Given the description of an element on the screen output the (x, y) to click on. 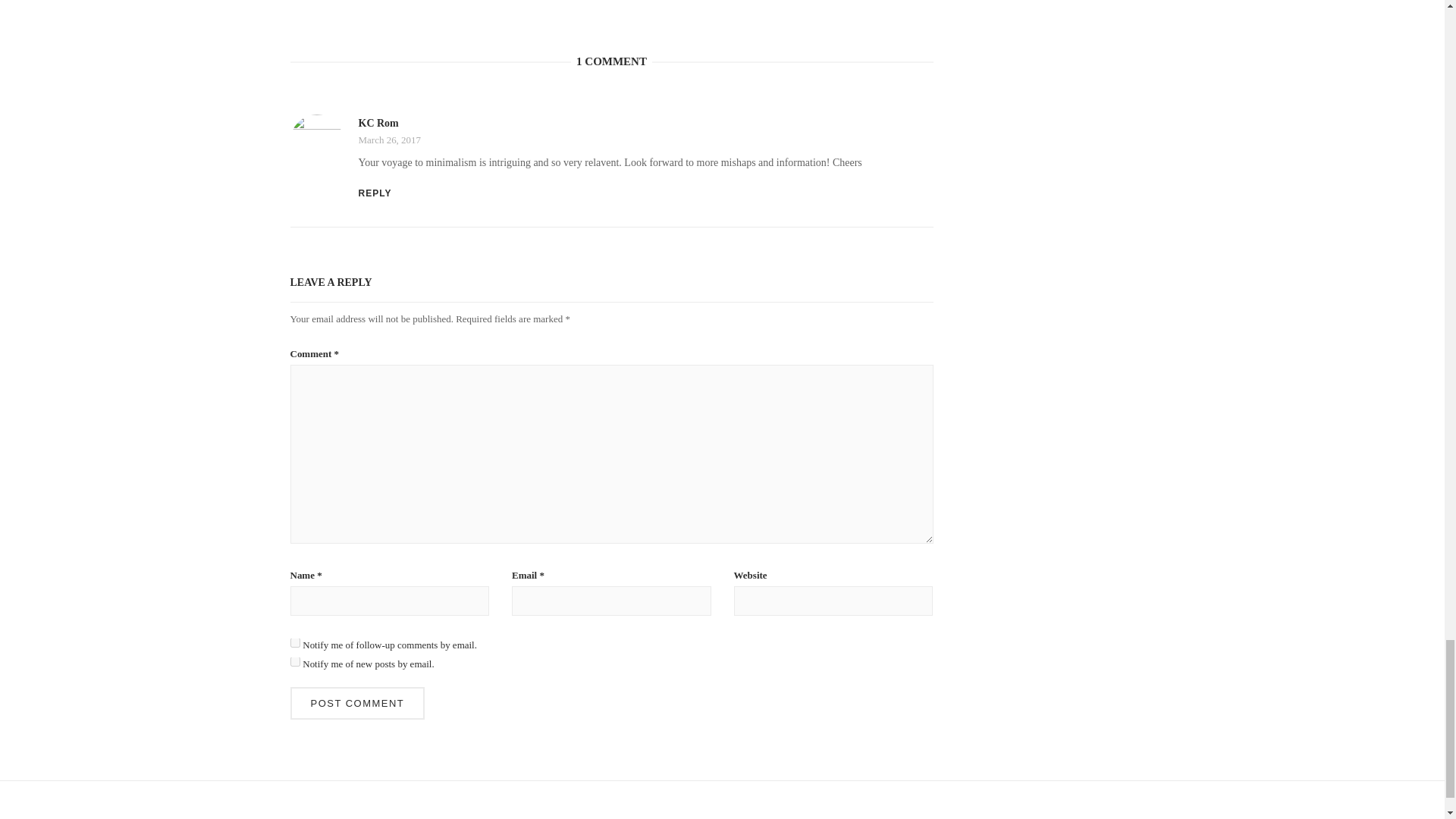
Post Comment (357, 703)
subscribe (294, 642)
subscribe (294, 661)
REPLY (374, 193)
Post Comment (357, 703)
